Given the description of an element on the screen output the (x, y) to click on. 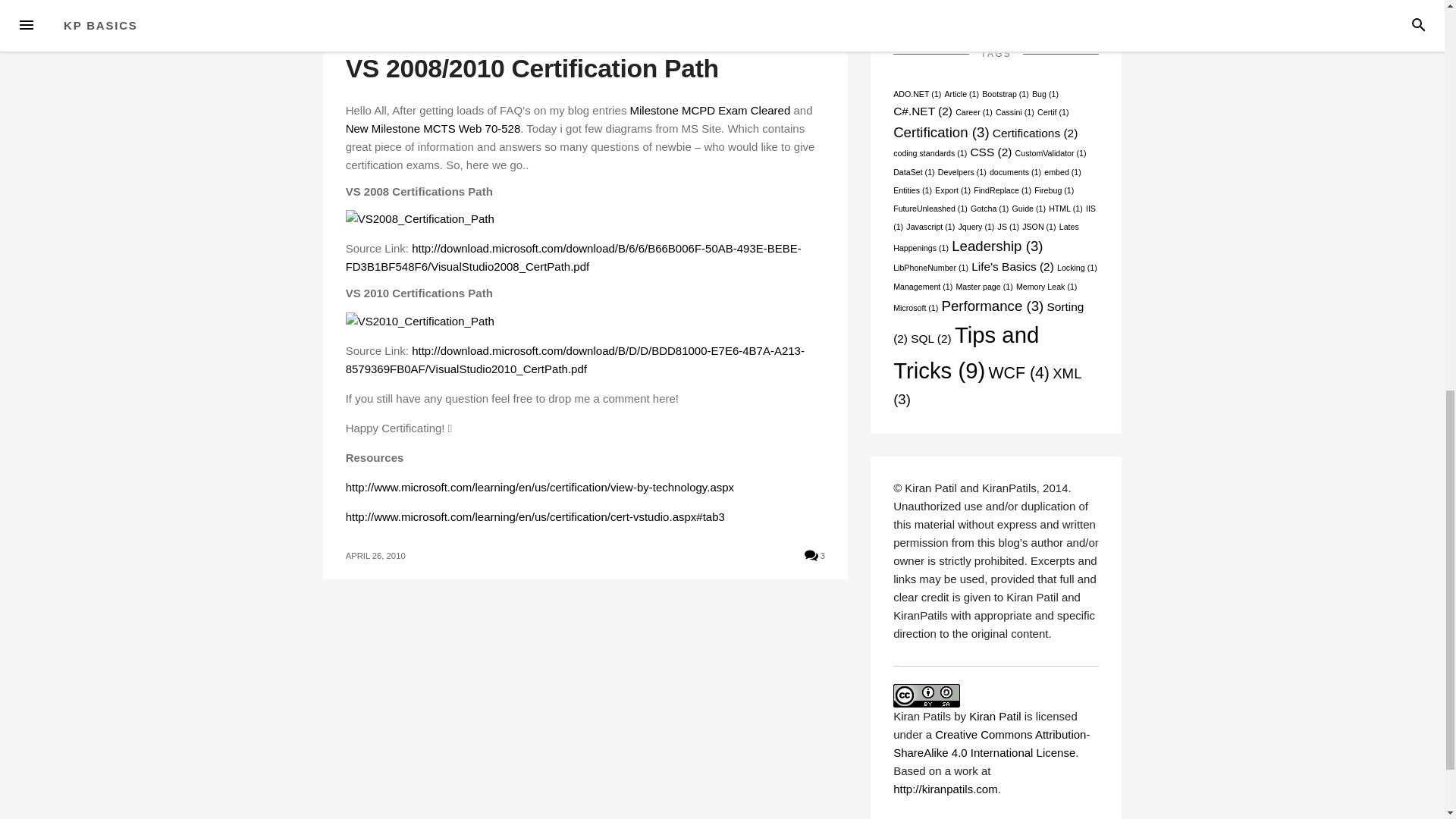
New Milestone MCTS Web 70-528 (433, 128)
CERTIFICATIONS (385, 40)
Milestone MCPD Exam Cleared (710, 110)
